Given the description of an element on the screen output the (x, y) to click on. 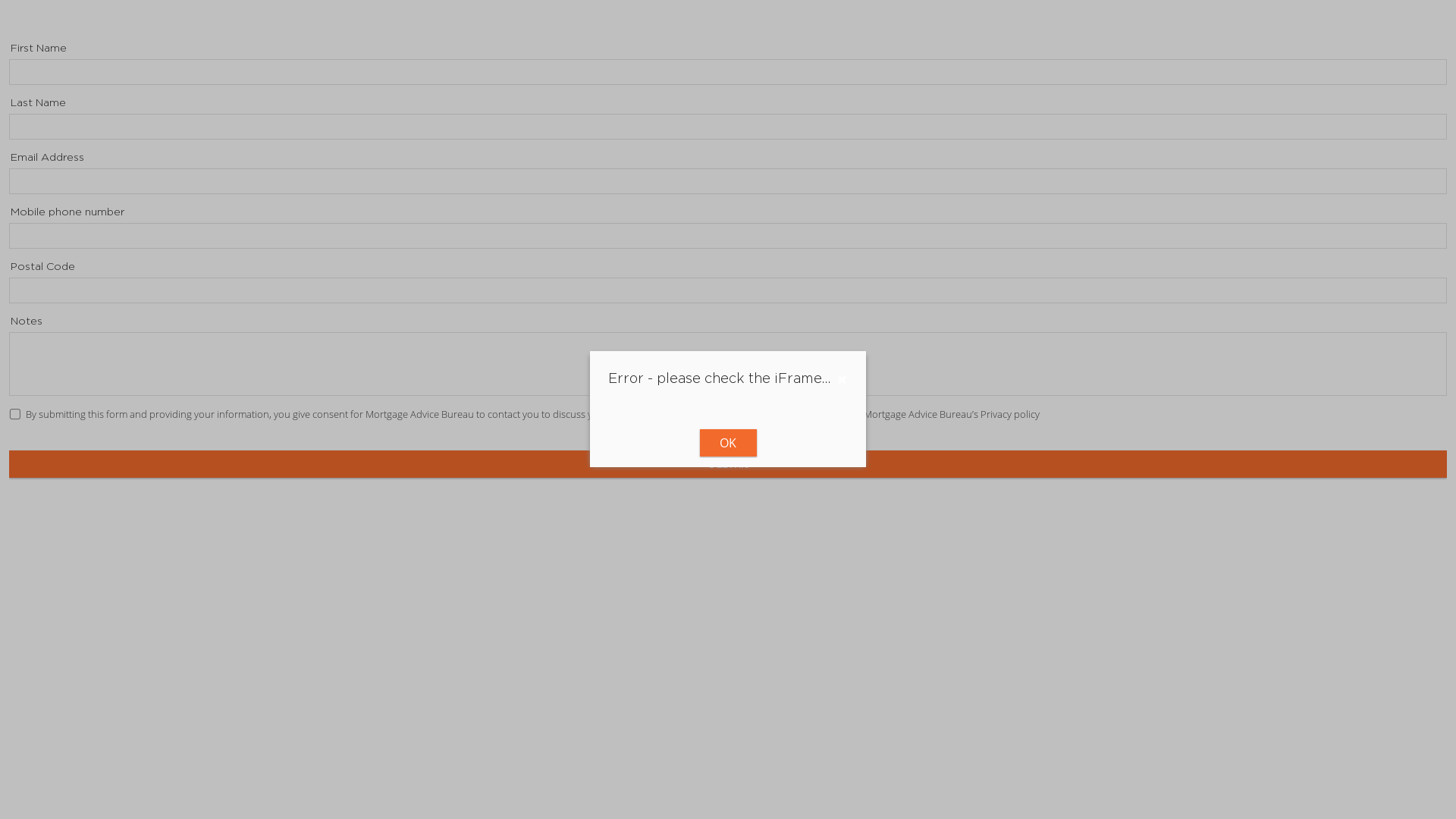
OK Element type: text (727, 442)
Submit Element type: text (727, 463)
